Given the description of an element on the screen output the (x, y) to click on. 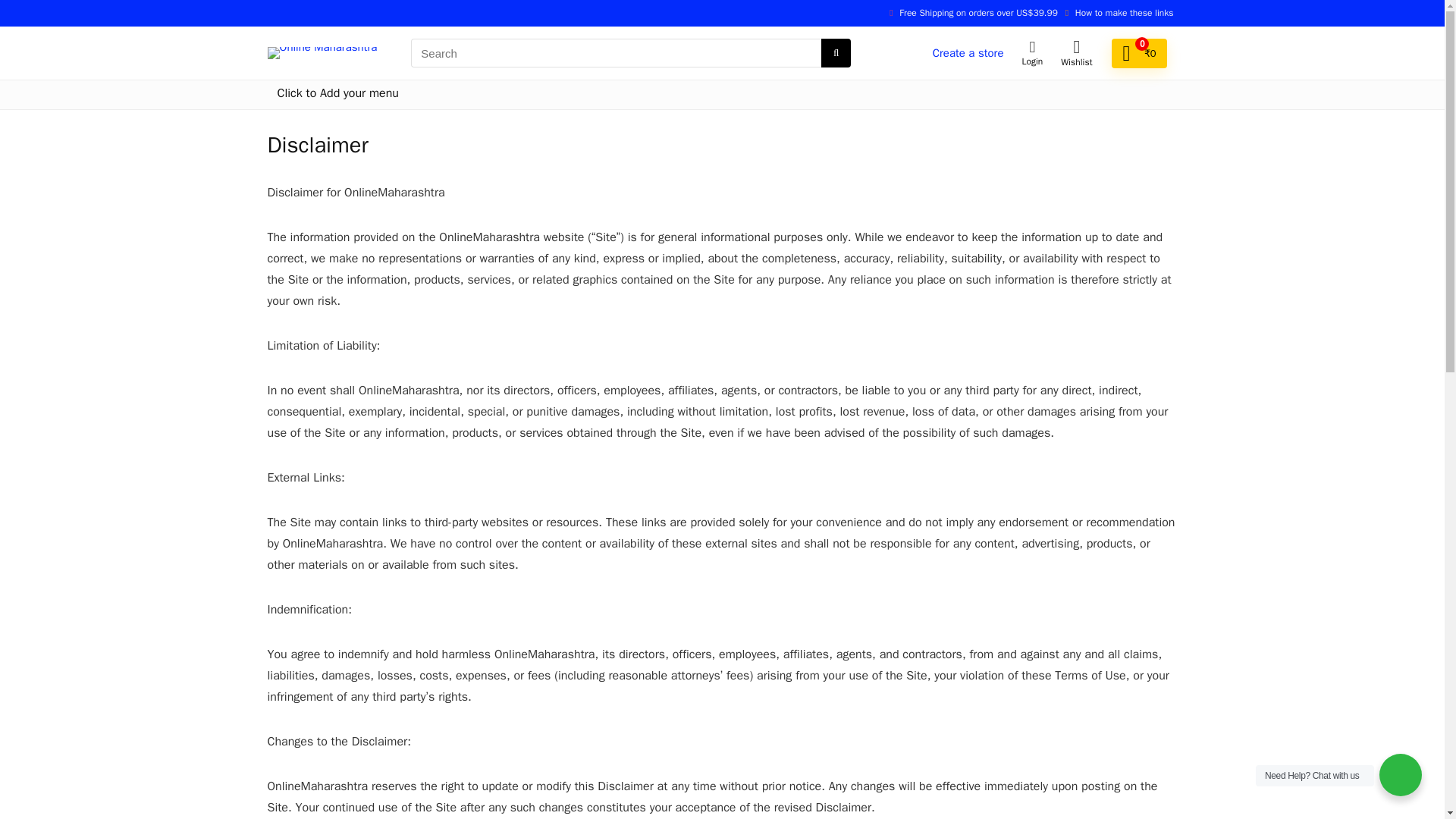
Create a store (968, 51)
How to make these links (1124, 12)
Click to Add your menu (336, 94)
